Given the description of an element on the screen output the (x, y) to click on. 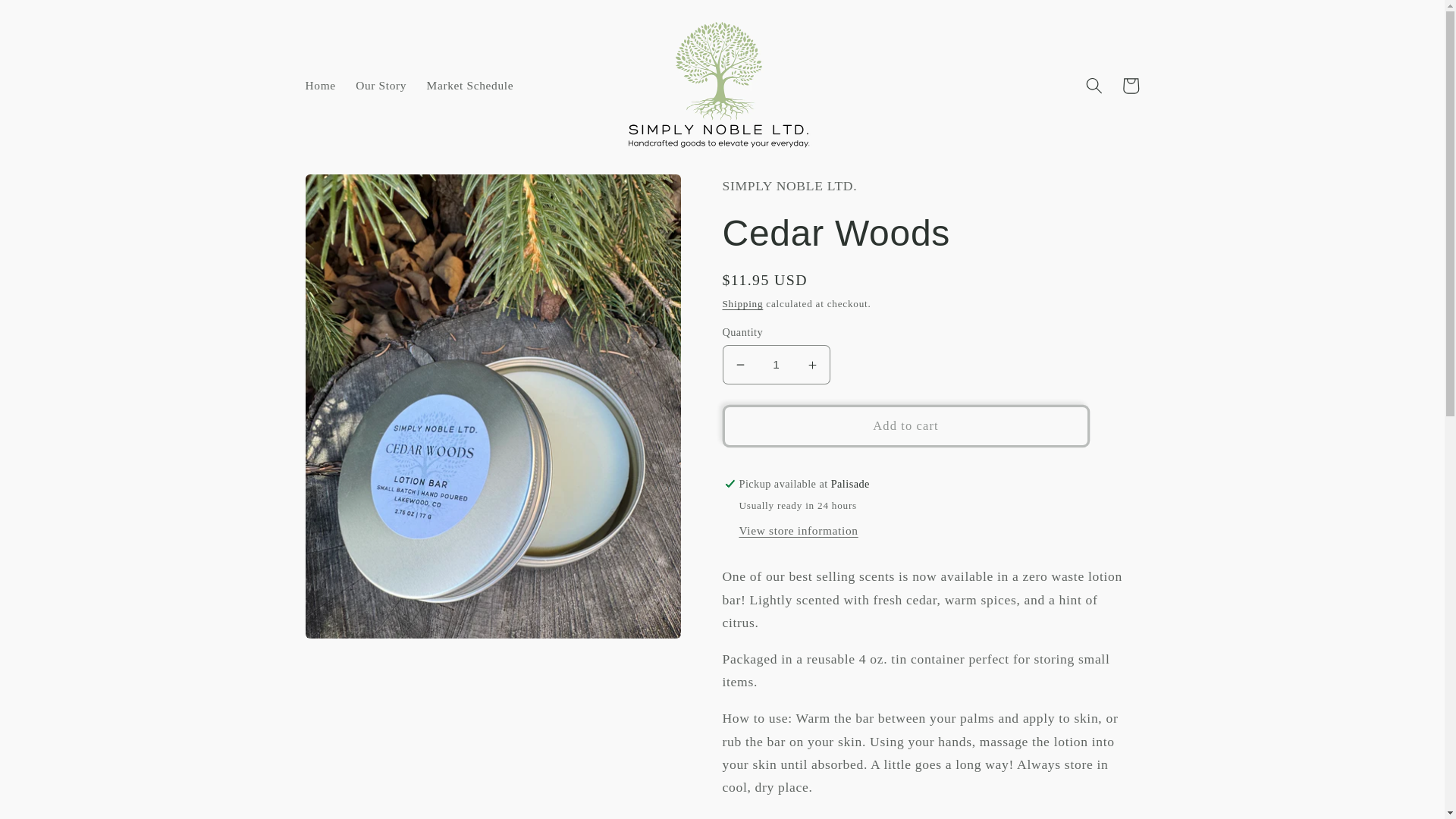
Shipping (742, 303)
Skip to product information (356, 194)
View store information (797, 531)
Market Schedule (469, 85)
Skip to content (51, 20)
1 (775, 364)
Home (320, 85)
Our Story (381, 85)
Cart (1130, 85)
Add to cart (905, 425)
